Given the description of an element on the screen output the (x, y) to click on. 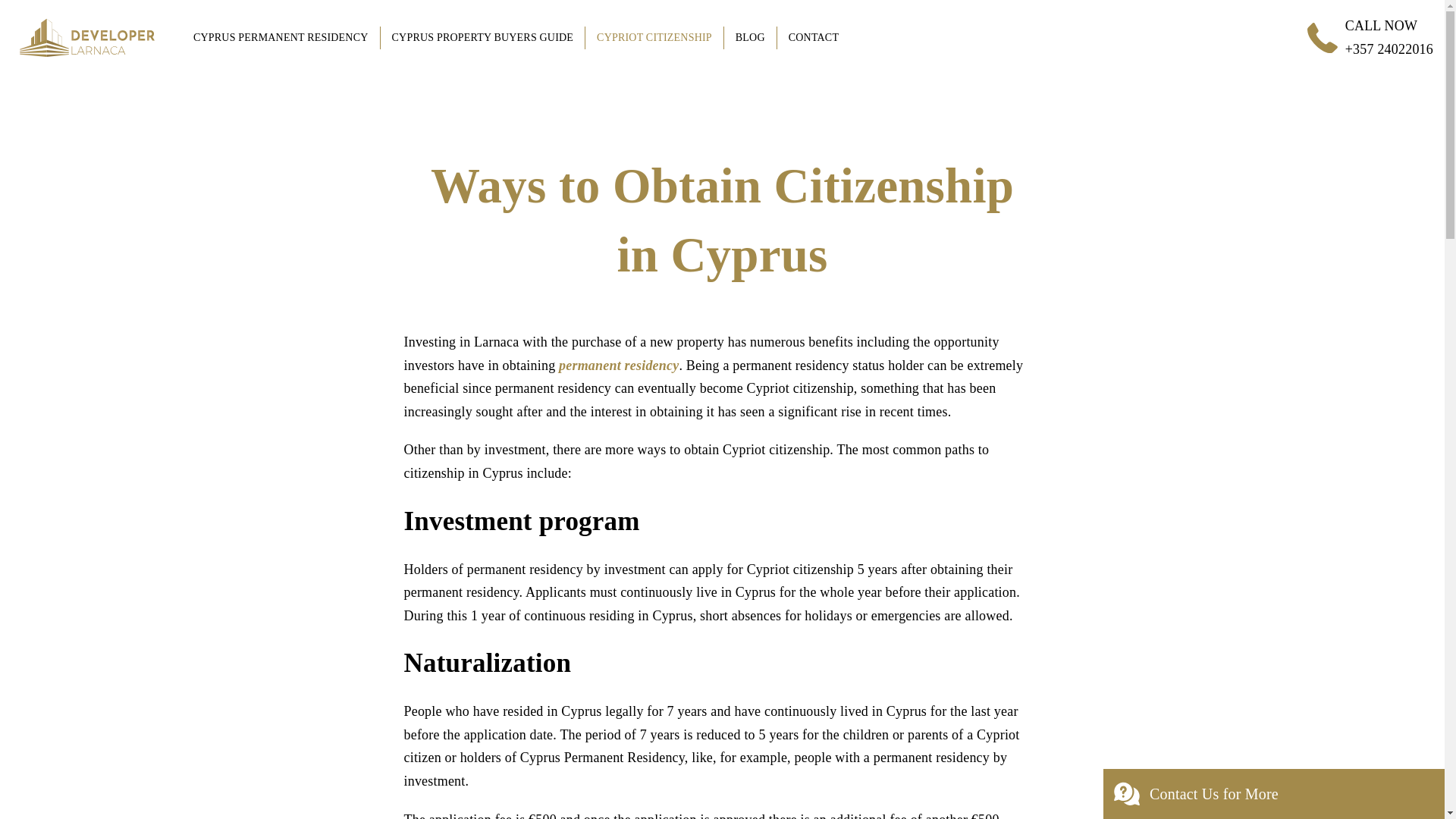
BLOG (749, 37)
permanent residency (618, 365)
CYPRUS PERMANENT RESIDENCY (281, 37)
CYPRUS PROPERTY BUYERS GUIDE (482, 37)
CYPRIOT CITIZENSHIP (654, 37)
CONTACT (813, 37)
Developer Larnaca (87, 37)
